Given the description of an element on the screen output the (x, y) to click on. 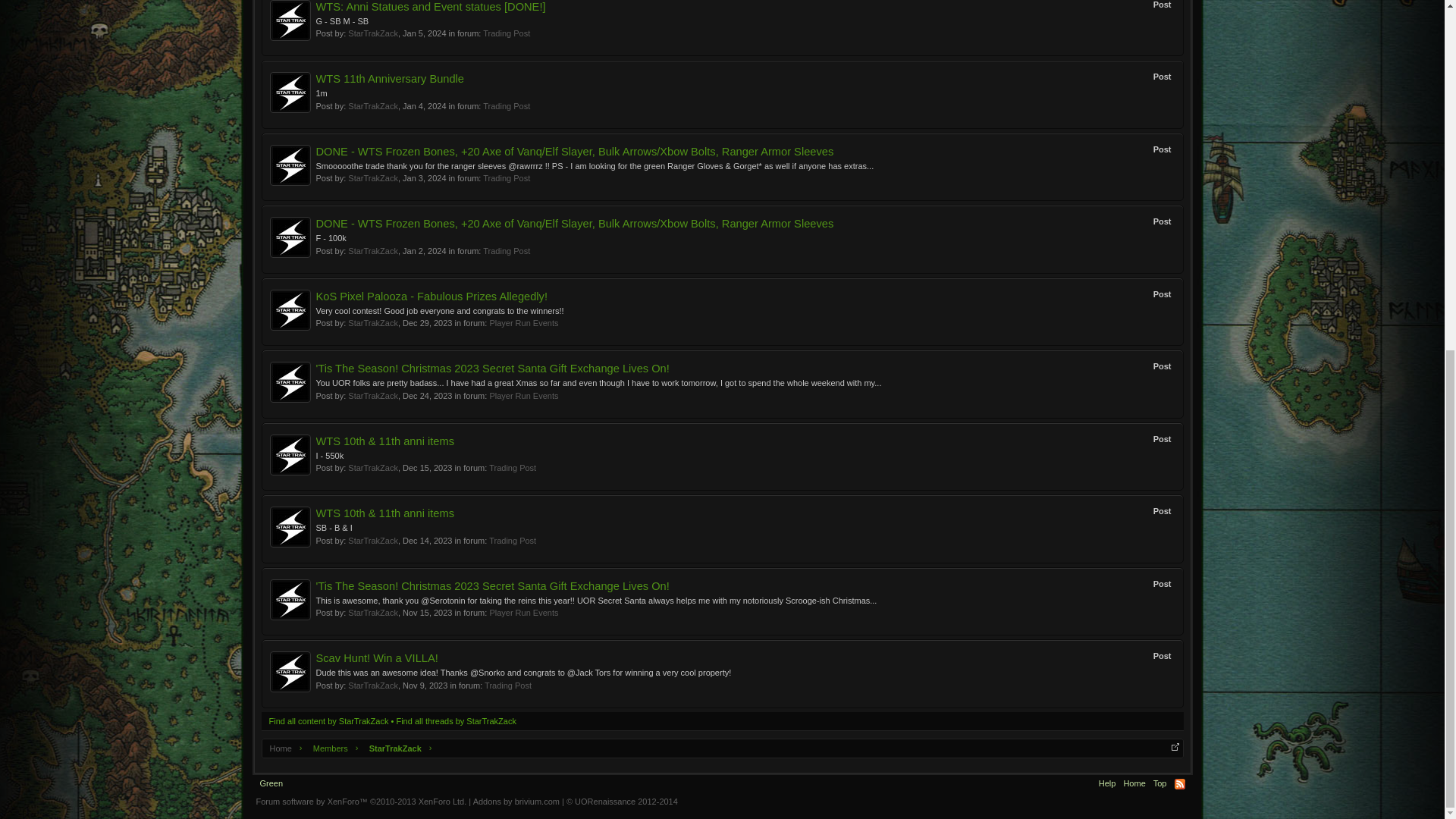
Nov 15, 2023 at 3:11 PM (427, 612)
Jan 3, 2024 at 10:39 PM (424, 177)
Jan 4, 2024 at 8:45 PM (424, 105)
1m (320, 92)
StarTrakZack (372, 32)
Open quick navigation (1173, 746)
Trading Post (506, 32)
Dec 24, 2023 at 9:15 PM (427, 395)
Nov 9, 2023 at 12:09 PM (424, 685)
WTS 11th Anniversary Bundle (389, 78)
Jan 2, 2024 at 9:32 PM (424, 250)
Dec 14, 2023 at 11:36 AM (427, 540)
Dec 15, 2023 at 11:01 PM (427, 467)
Jan 5, 2024 at 11:45 AM (424, 32)
G - SB M - SB (341, 20)
